Given the description of an element on the screen output the (x, y) to click on. 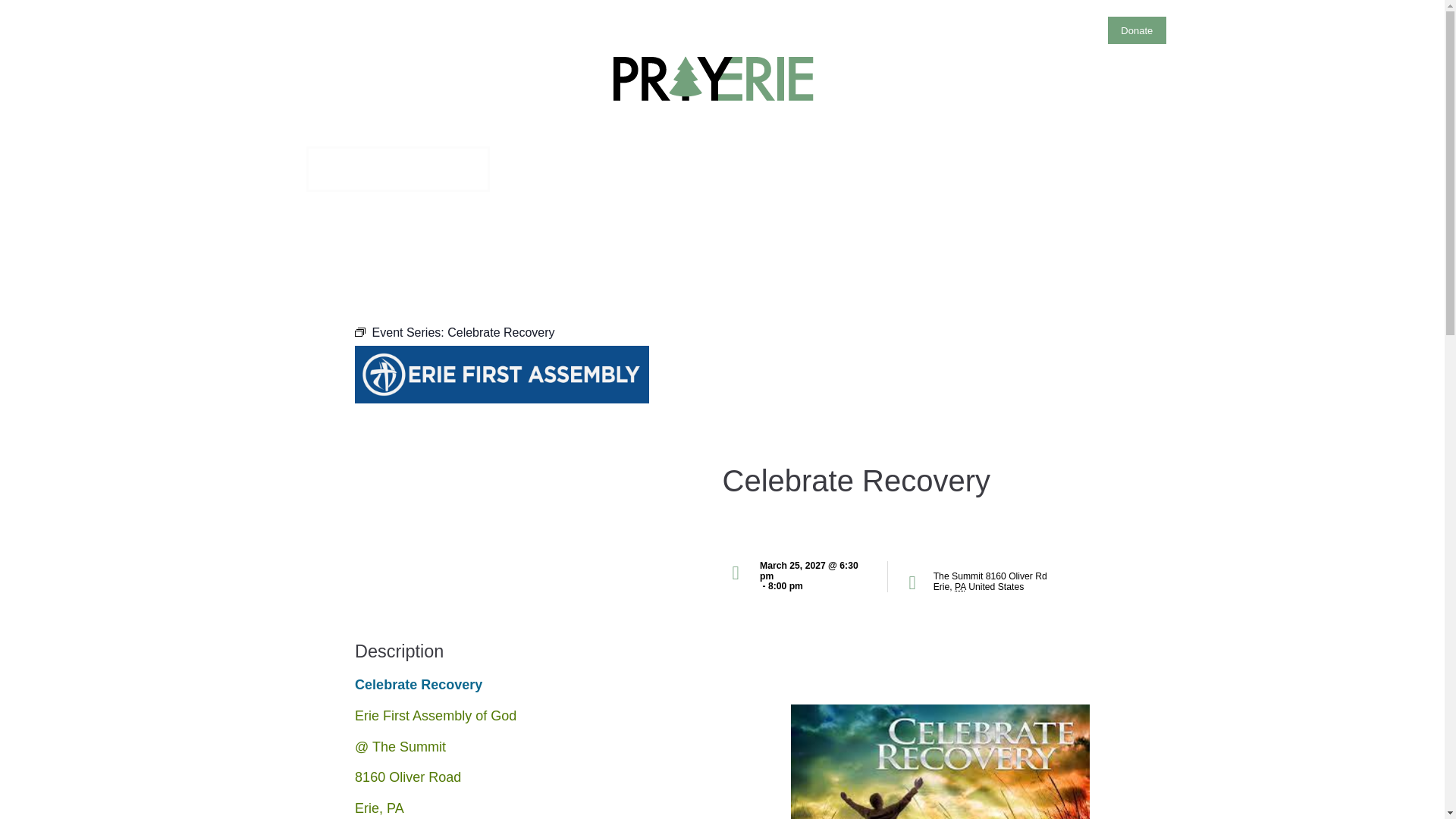
ARCHIVES (813, 168)
CALENDAR (397, 168)
Gem City Blog (990, 27)
Event Series (360, 331)
Prayer Walks (845, 27)
Donate (1137, 30)
PRAYER WALKS (607, 168)
